Given the description of an element on the screen output the (x, y) to click on. 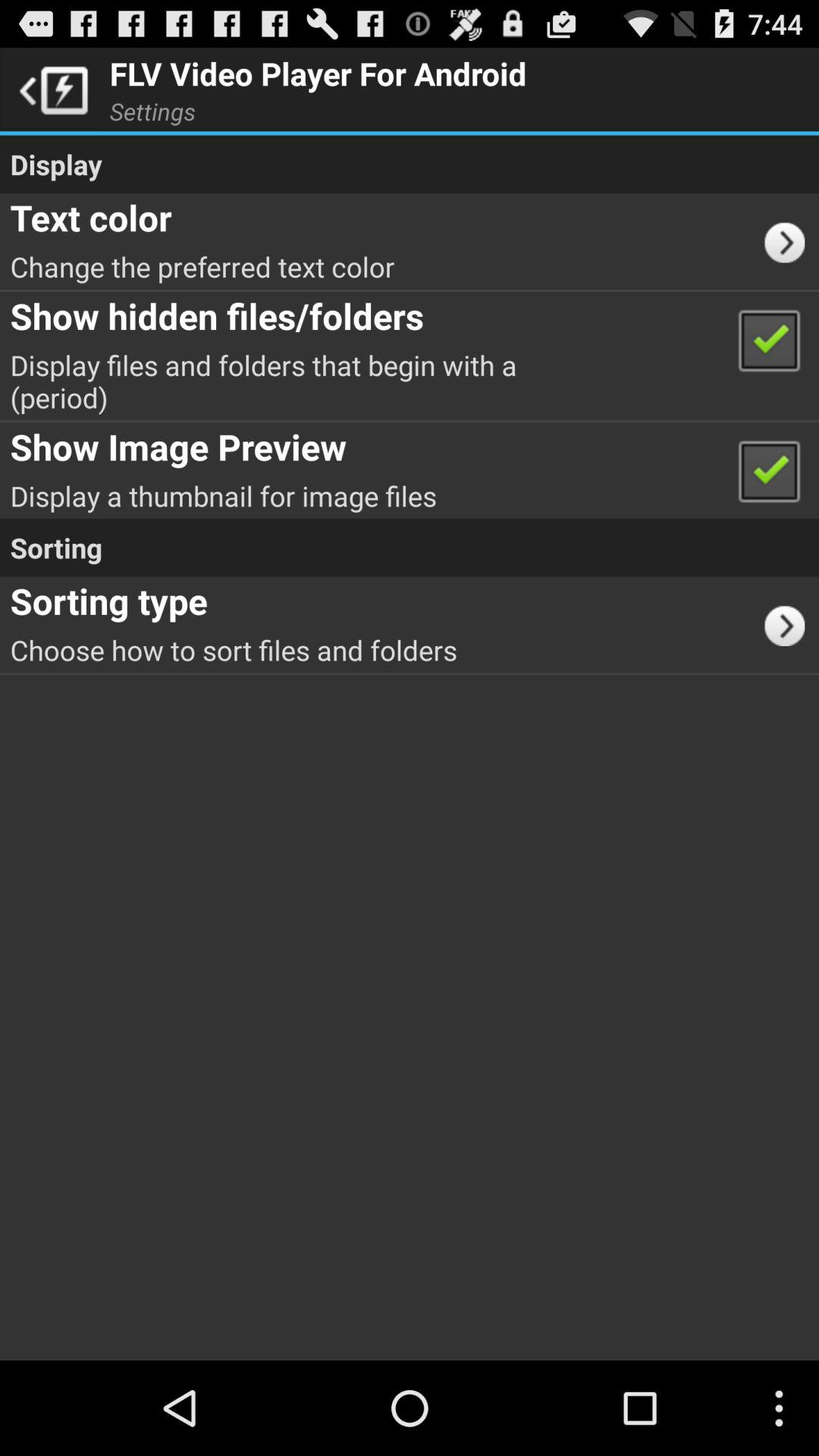
turn on item on the right (790, 624)
